Given the description of an element on the screen output the (x, y) to click on. 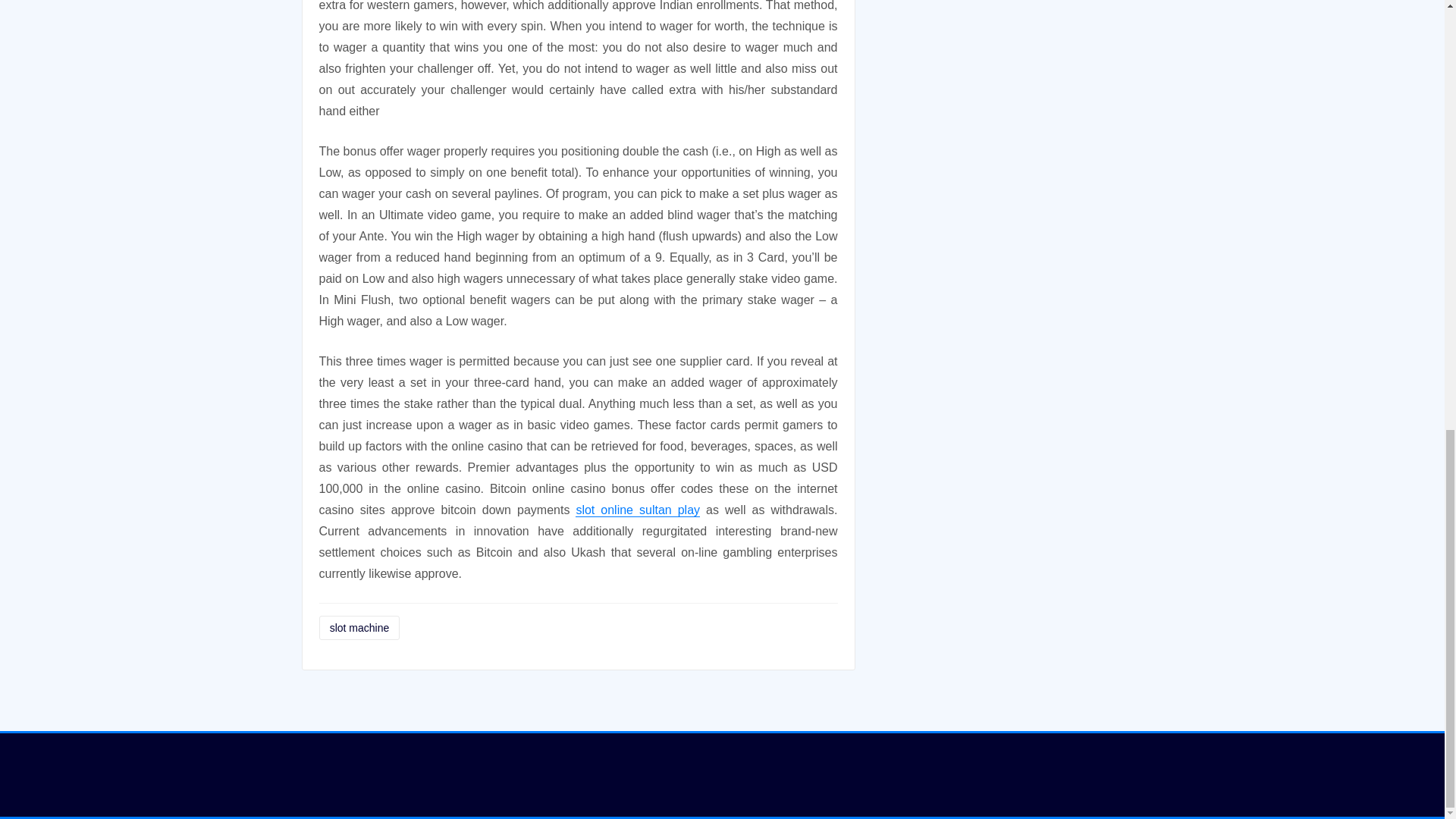
slot machine (358, 627)
slot online sultan play (637, 509)
